Given the description of an element on the screen output the (x, y) to click on. 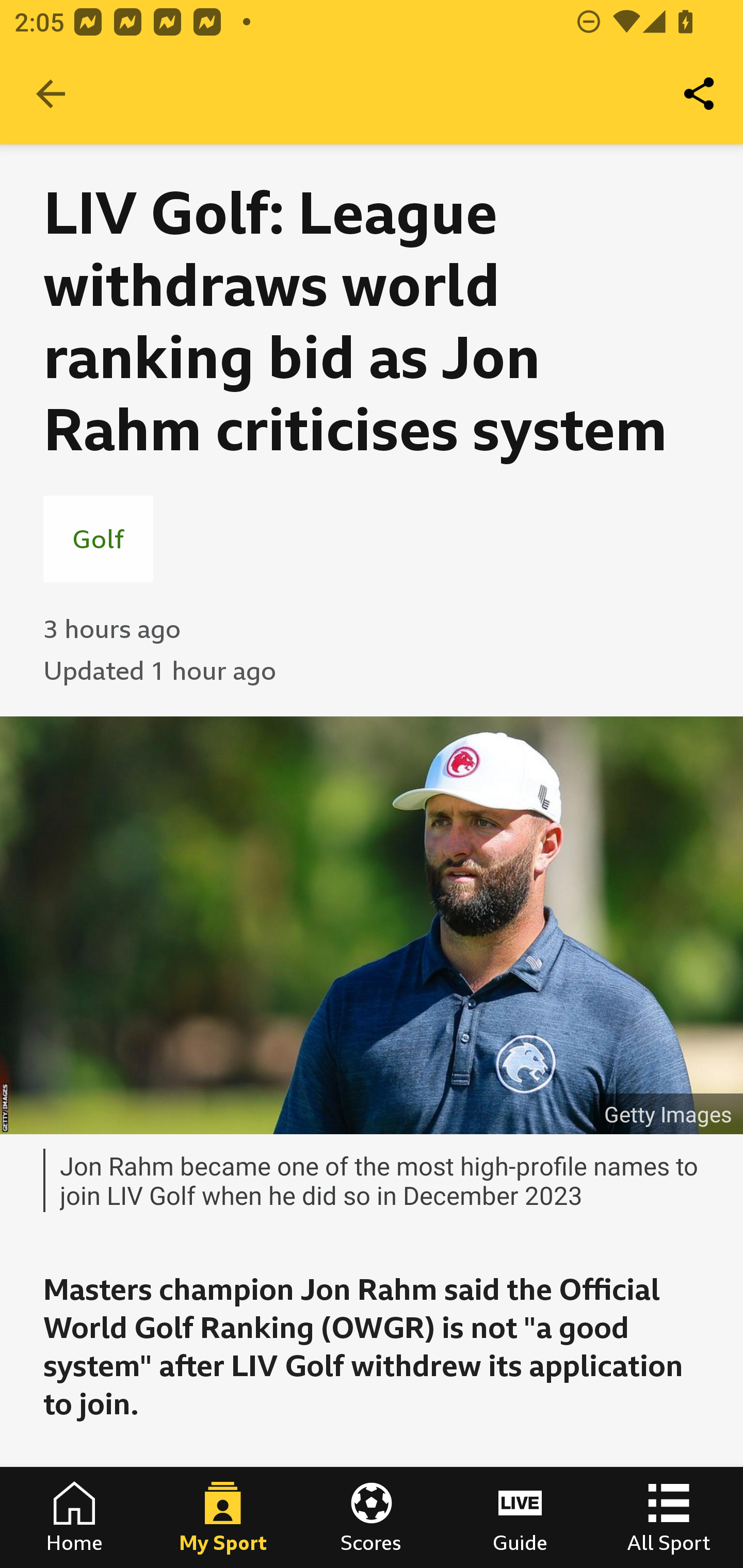
Navigate up (50, 93)
Share (699, 93)
Golf (98, 538)
Home (74, 1517)
Scores (371, 1517)
Guide (519, 1517)
All Sport (668, 1517)
